Given the description of an element on the screen output the (x, y) to click on. 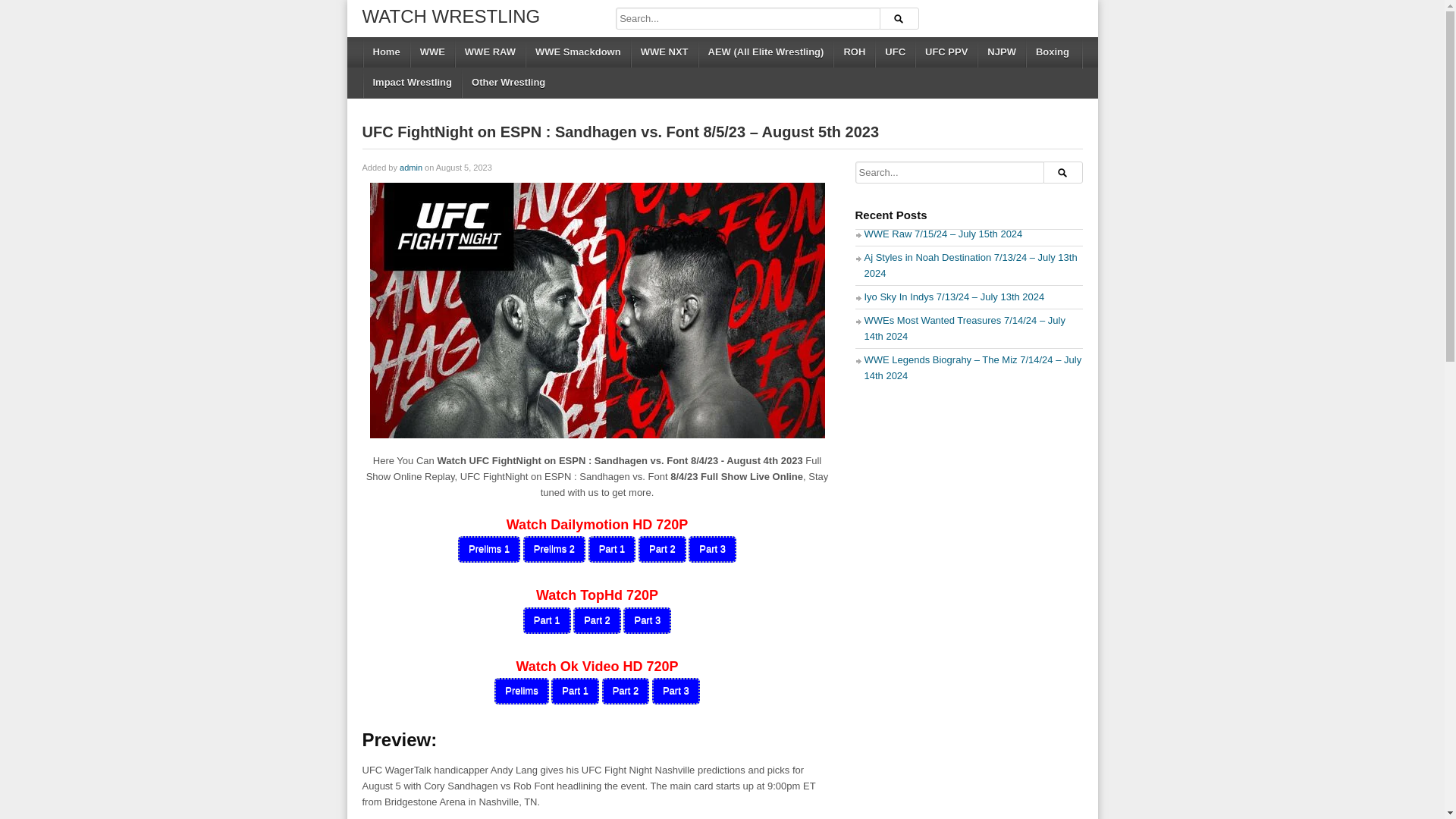
Home (385, 51)
Search (1062, 172)
Prelims (521, 691)
Search (899, 18)
WATCH WRESTLING (451, 15)
Part 1 (574, 691)
Part 3 (647, 620)
ROH (853, 51)
WWE NXT (663, 51)
WWE (431, 51)
Part 3 (676, 691)
WWE RAW (489, 51)
UFC (894, 51)
Boxing (1051, 51)
Posts by admin (410, 166)
